Given the description of an element on the screen output the (x, y) to click on. 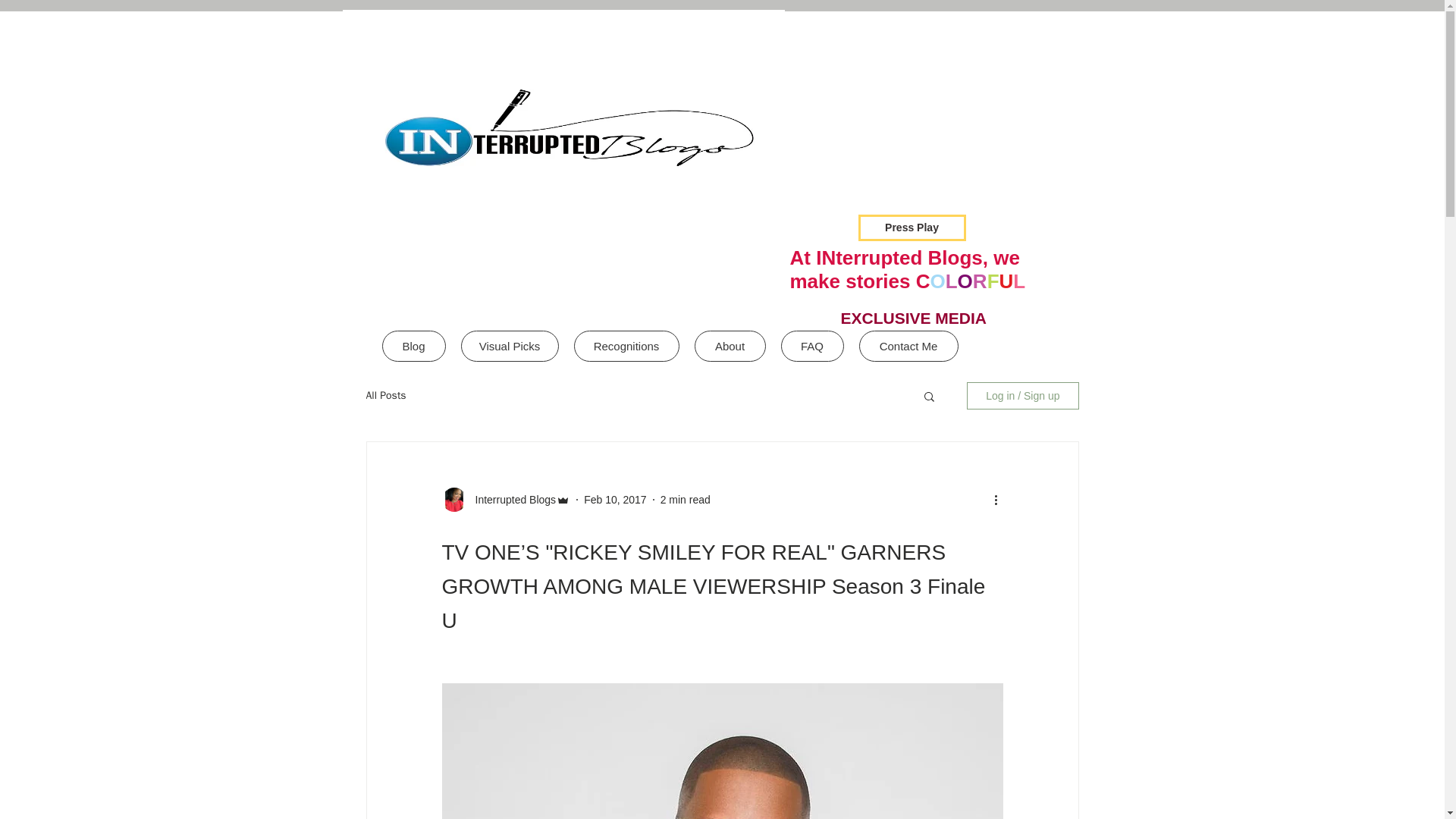
Press Play (912, 227)
Recognitions (625, 345)
2 min read (685, 499)
All Posts (385, 395)
Blog (413, 345)
Contact Me (908, 345)
Interrupted Blogs (510, 498)
Visual Picks (510, 345)
Feb 10, 2017 (614, 499)
FAQ (812, 345)
About (729, 345)
